Given the description of an element on the screen output the (x, y) to click on. 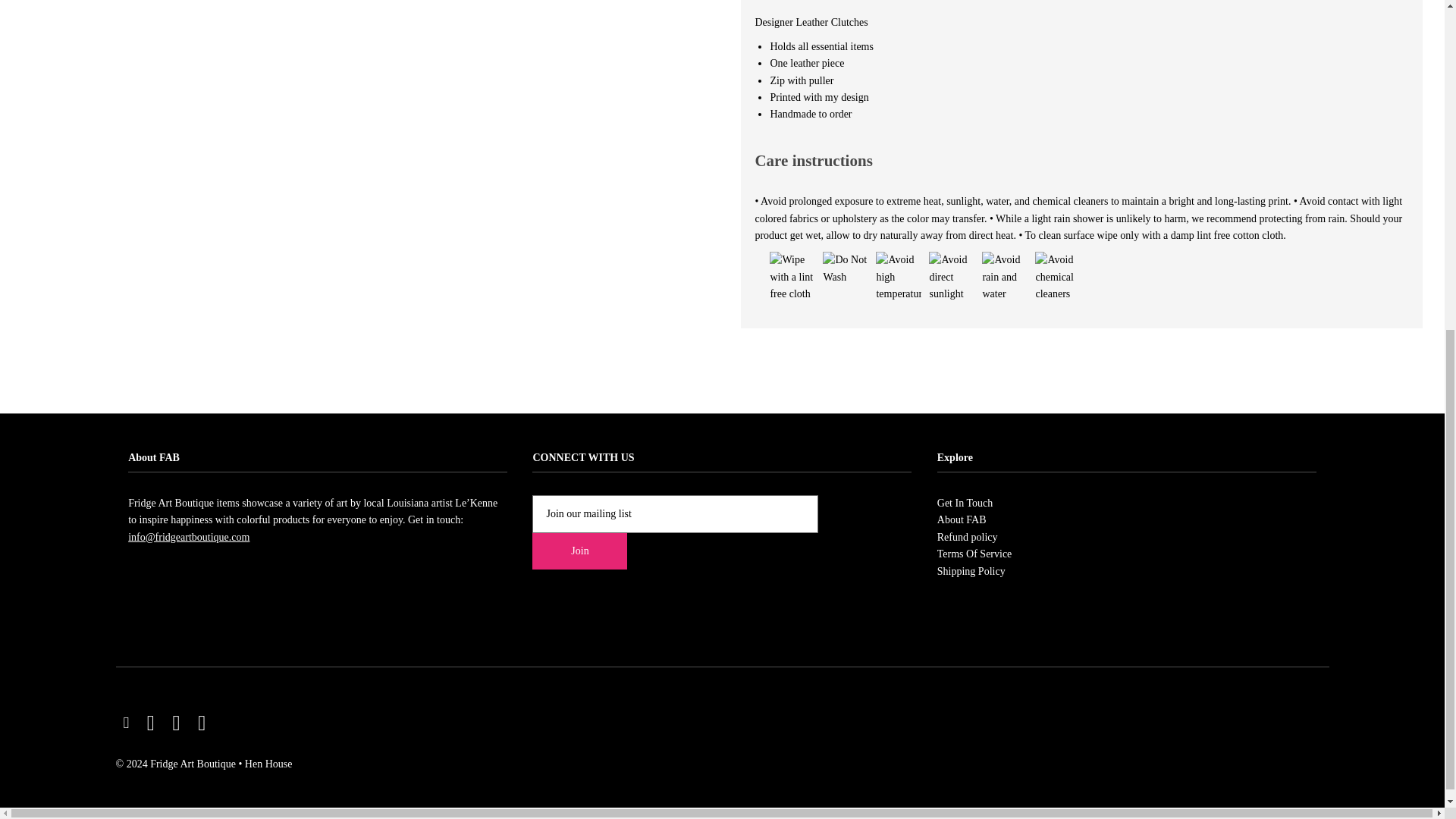
Do Not Wash (844, 268)
Avoid direct sunlight (951, 276)
Wipe with a lint free cloth (792, 276)
Avoid high temperatures (898, 276)
Avoid chemical cleaners (1057, 276)
Avoid rain and water (1004, 276)
Join (579, 551)
